Given the description of an element on the screen output the (x, y) to click on. 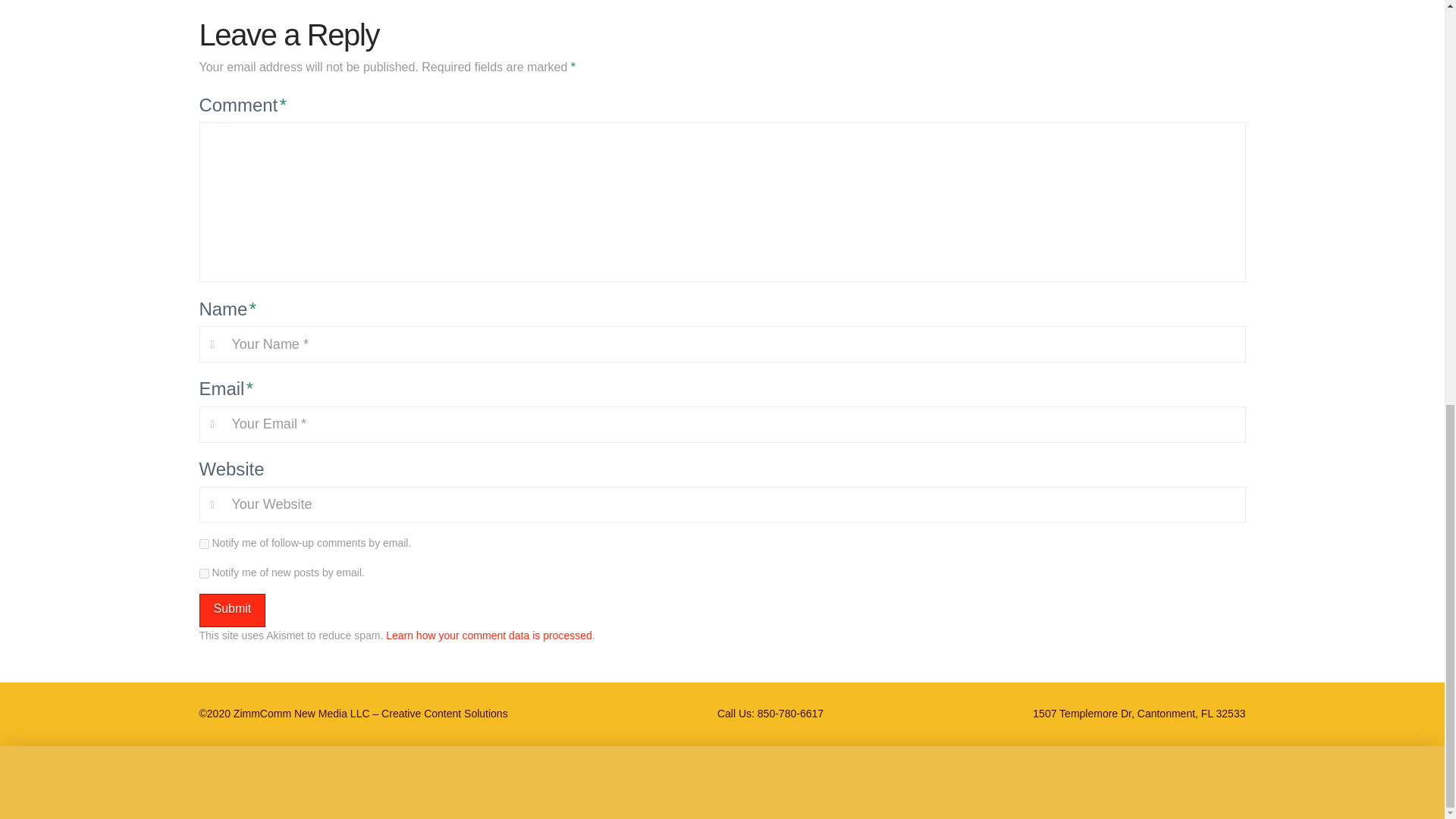
subscribe (203, 573)
Learn how your comment data is processed (488, 635)
subscribe (203, 543)
Submit (231, 610)
Submit (231, 610)
